Given the description of an element on the screen output the (x, y) to click on. 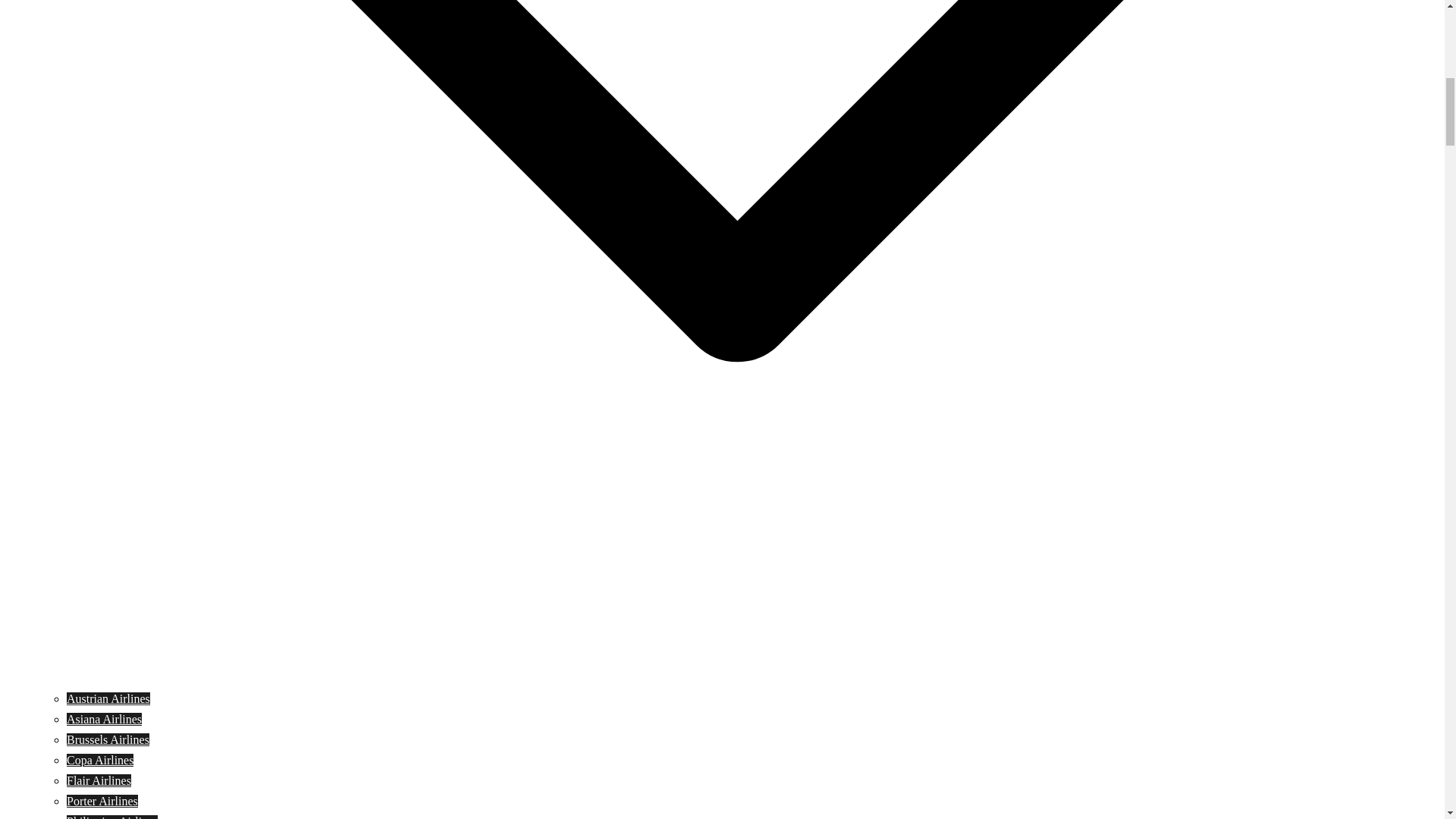
Copa Airlines (99, 759)
Porter Airlines (102, 800)
Philippine Airlines (111, 816)
Asiana Airlines (103, 718)
Brussels Airlines (107, 739)
Austrian Airlines (107, 698)
Flair Airlines (98, 780)
